Given the description of an element on the screen output the (x, y) to click on. 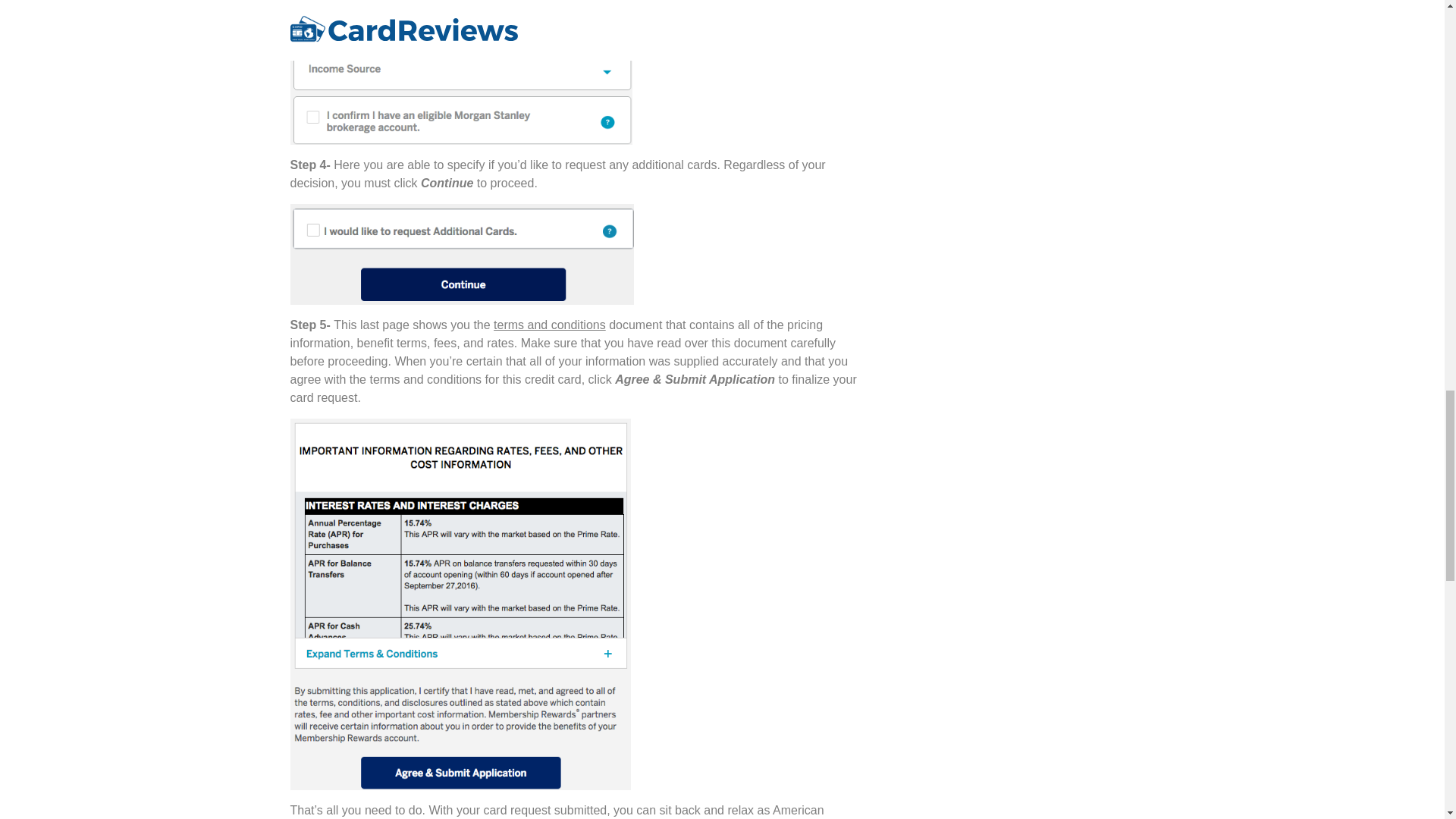
terms and conditions (549, 324)
